Given the description of an element on the screen output the (x, y) to click on. 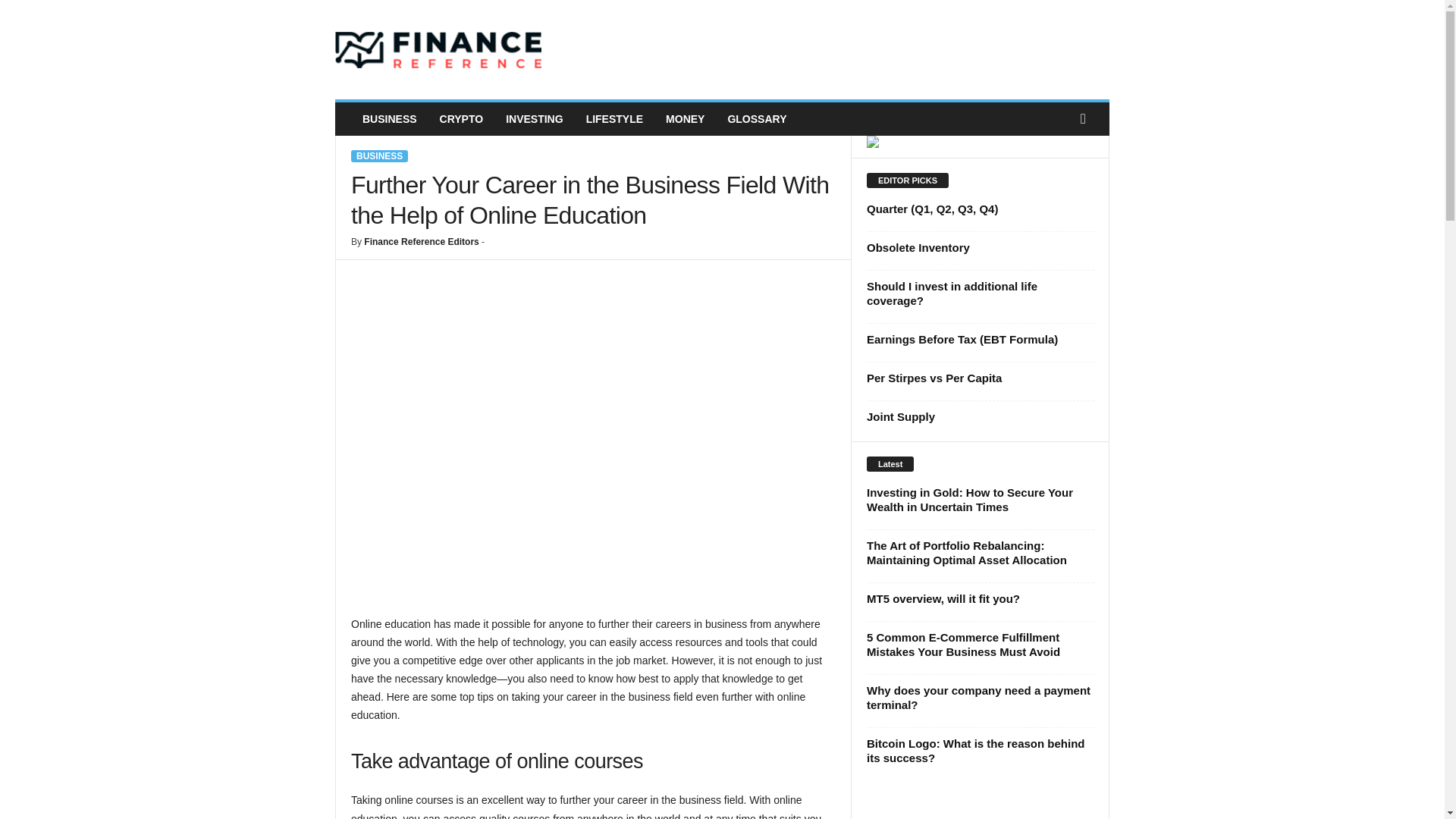
CRYPTO (461, 118)
BUSINESS (389, 118)
Finance Reference (437, 49)
